Given the description of an element on the screen output the (x, y) to click on. 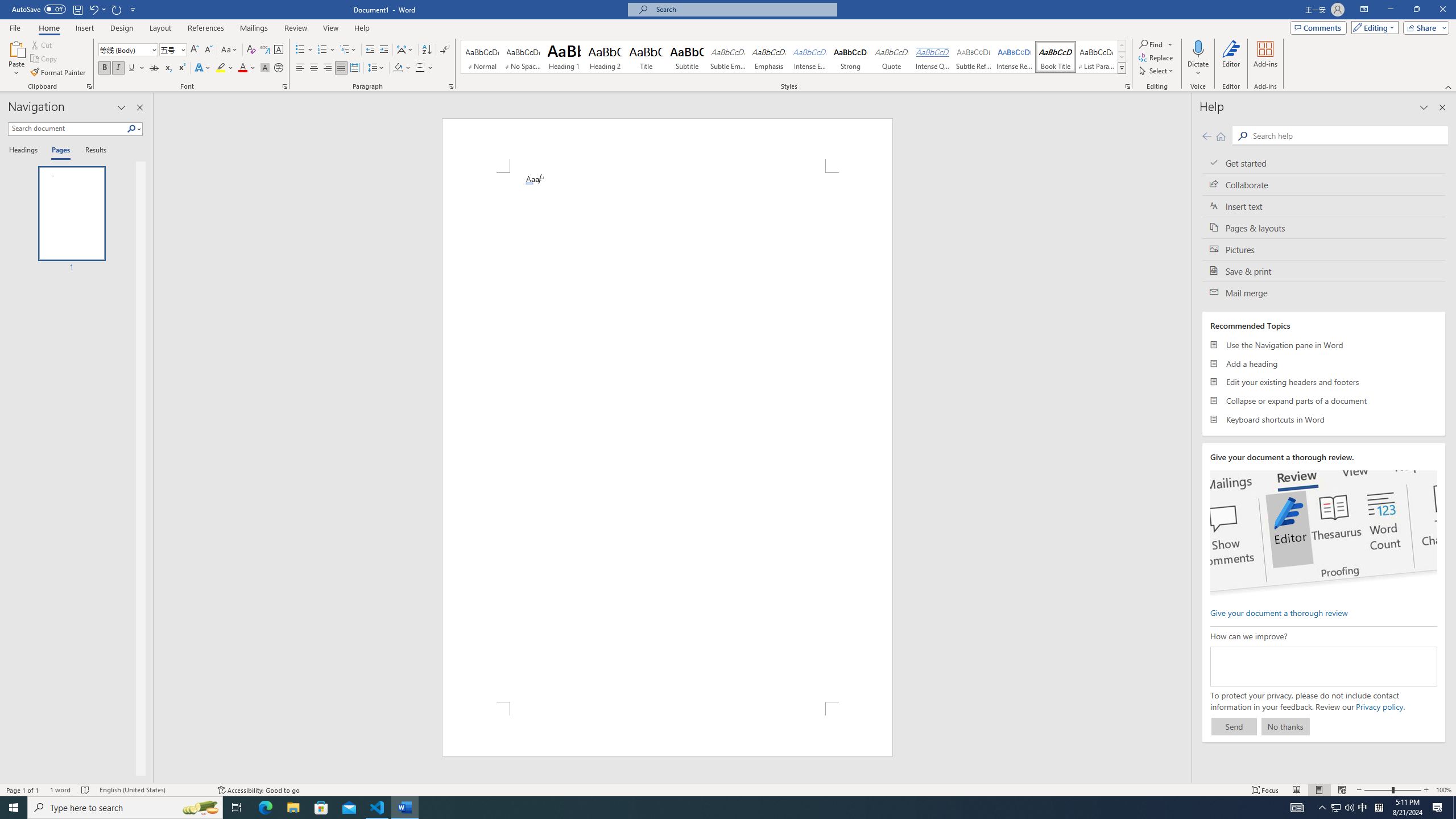
Use the Navigation pane in Word (1323, 344)
Subtle Emphasis (727, 56)
Pages & layouts (1323, 228)
Mail merge (1323, 292)
Action: Undo Auto Actions (528, 183)
Intense Emphasis (809, 56)
Page 1 content (667, 436)
